Given the description of an element on the screen output the (x, y) to click on. 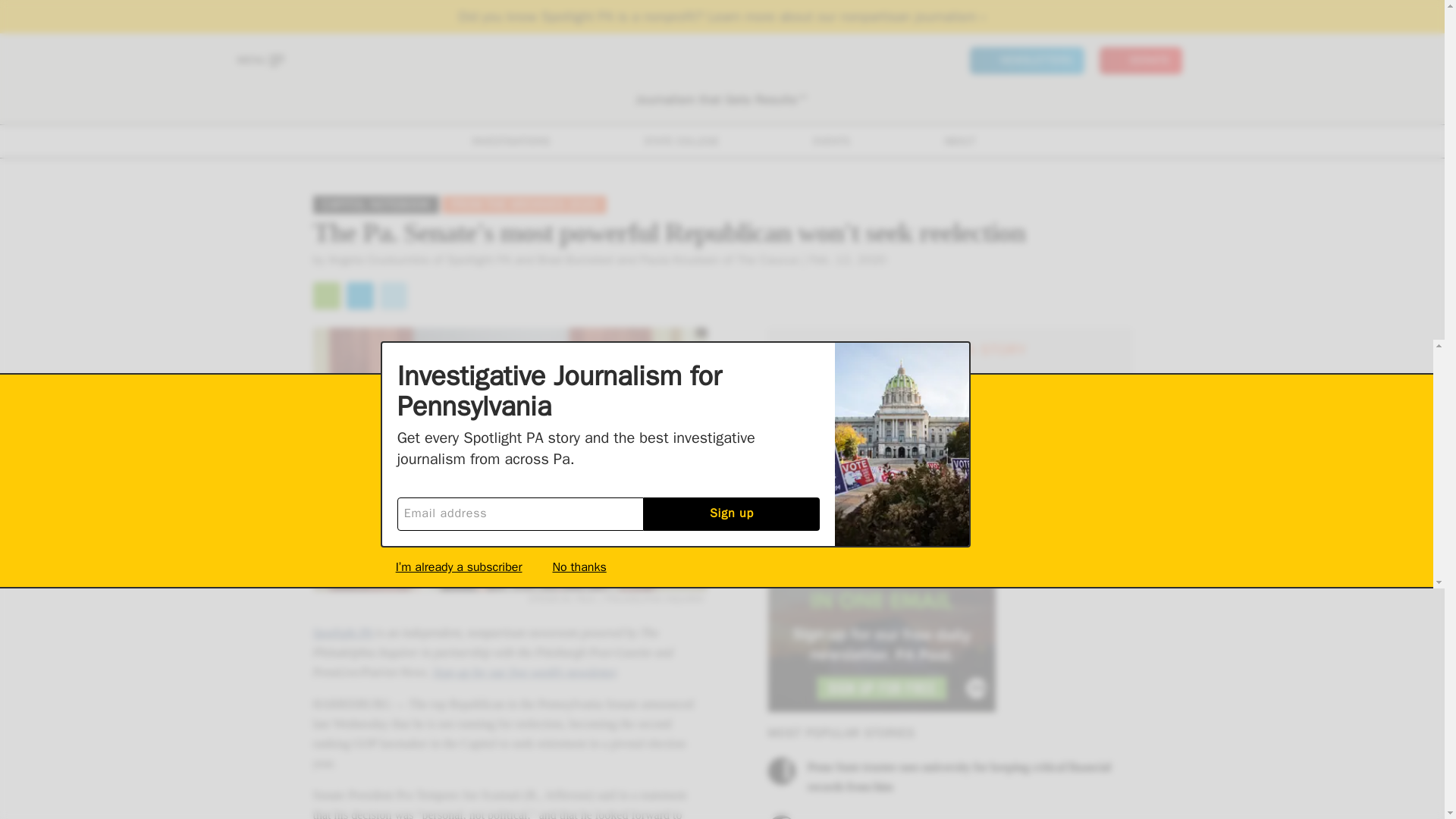
MENU (259, 60)
Share this page on Facebook (359, 295)
Tweet about this page (392, 295)
Share this page by email (326, 295)
